Given the description of an element on the screen output the (x, y) to click on. 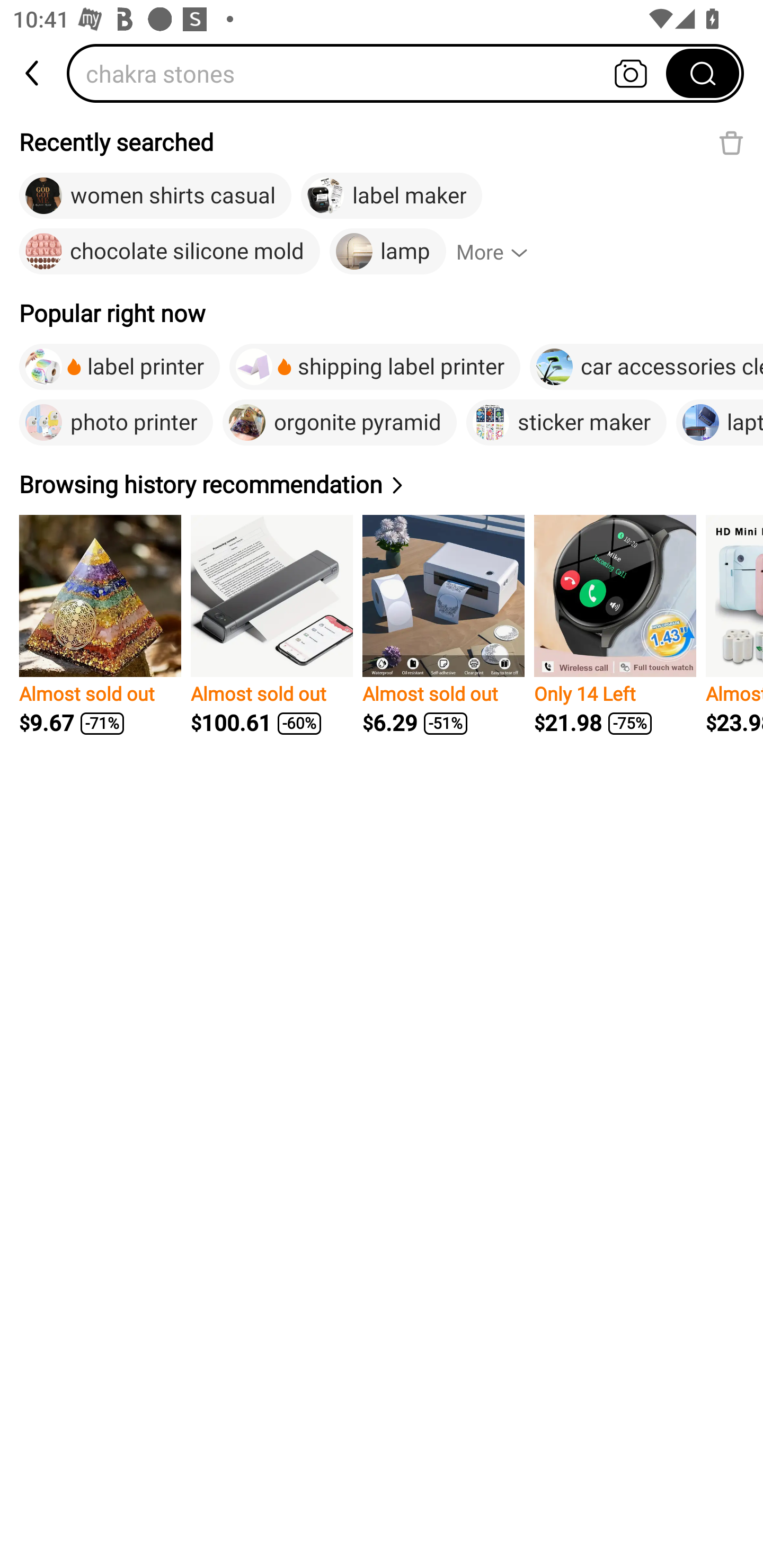
back (33, 72)
chakra stones (372, 73)
Search by photo (630, 73)
Delete recent search (731, 142)
women shirts casual (155, 195)
label maker (391, 195)
chocolate silicone mold (169, 251)
lamp (387, 251)
More (499, 251)
label printer (119, 366)
shipping label printer (374, 366)
car accessories clearance (646, 366)
photo printer (115, 422)
orgonite pyramid (339, 422)
sticker maker (566, 422)
Browsing history recommendation (213, 484)
Almost sold out $9.67 -71% (100, 625)
Almost sold out $100.61 -60% (271, 625)
Almost sold out $6.29 -51% (443, 625)
Only 14 Left $21.98 -75% (614, 625)
